Given the description of an element on the screen output the (x, y) to click on. 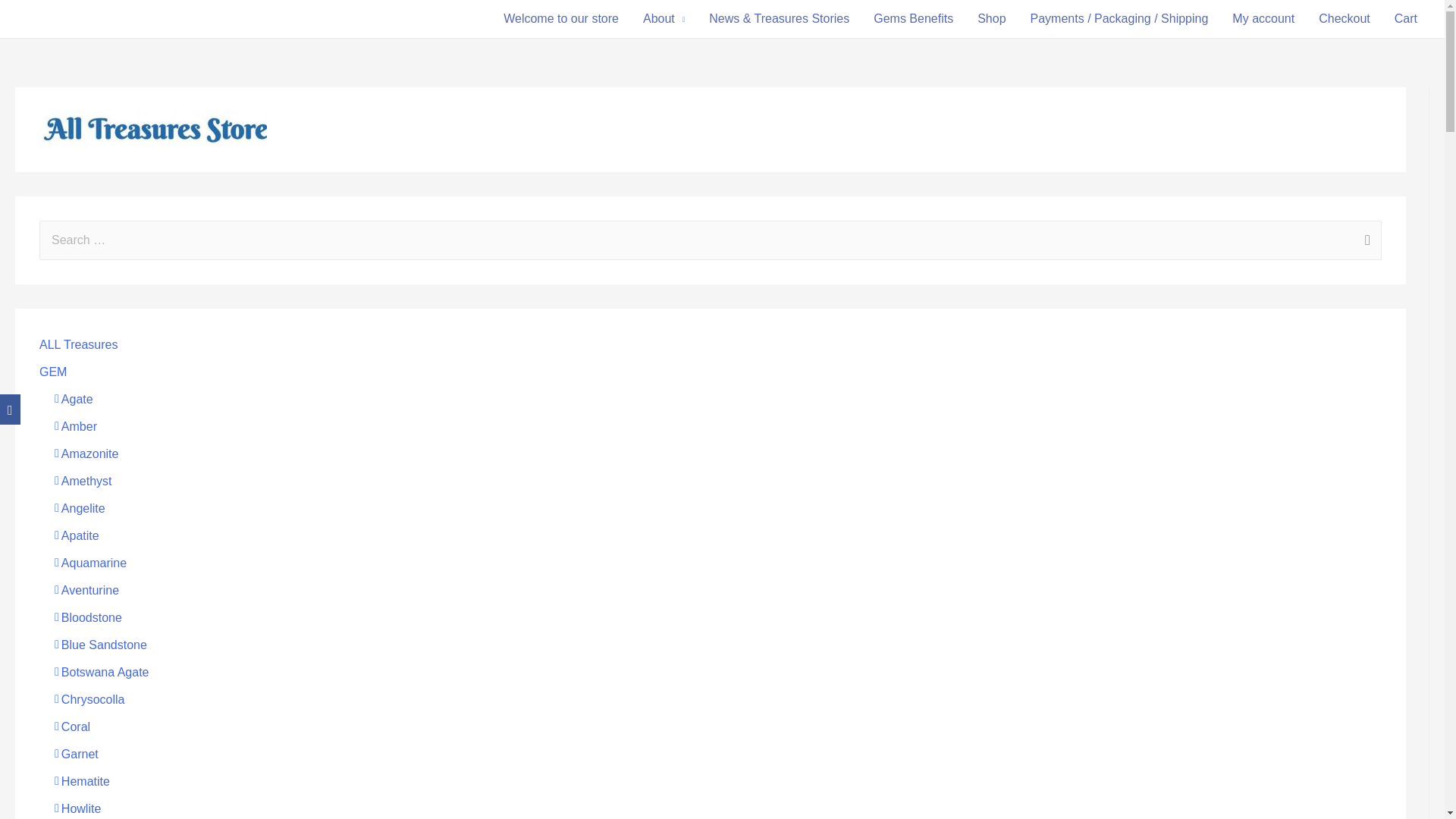
Aventurine (87, 590)
Howlite (77, 808)
Chrysocolla (89, 698)
Coral (72, 726)
Agate (74, 399)
Gems Benefits (913, 18)
Amazonite (86, 453)
Amber (76, 426)
Search (1364, 241)
Amethyst (83, 481)
Cart (1405, 18)
Search (1364, 241)
Garnet (77, 753)
Aquamarine (90, 562)
My account (1263, 18)
